Given the description of an element on the screen output the (x, y) to click on. 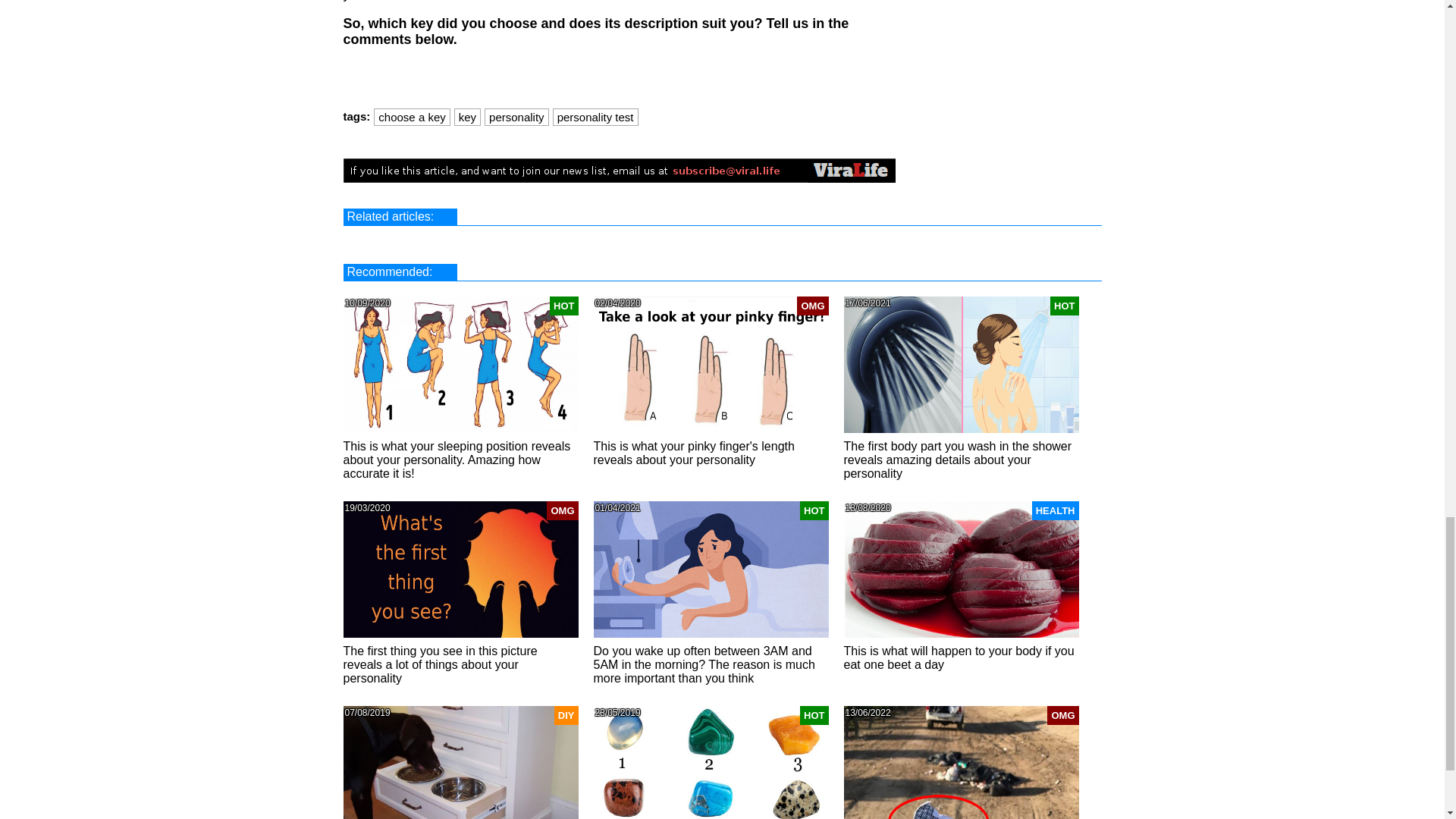
key (467, 116)
personality test (595, 116)
choose a key (411, 116)
key (467, 116)
